Given the description of an element on the screen output the (x, y) to click on. 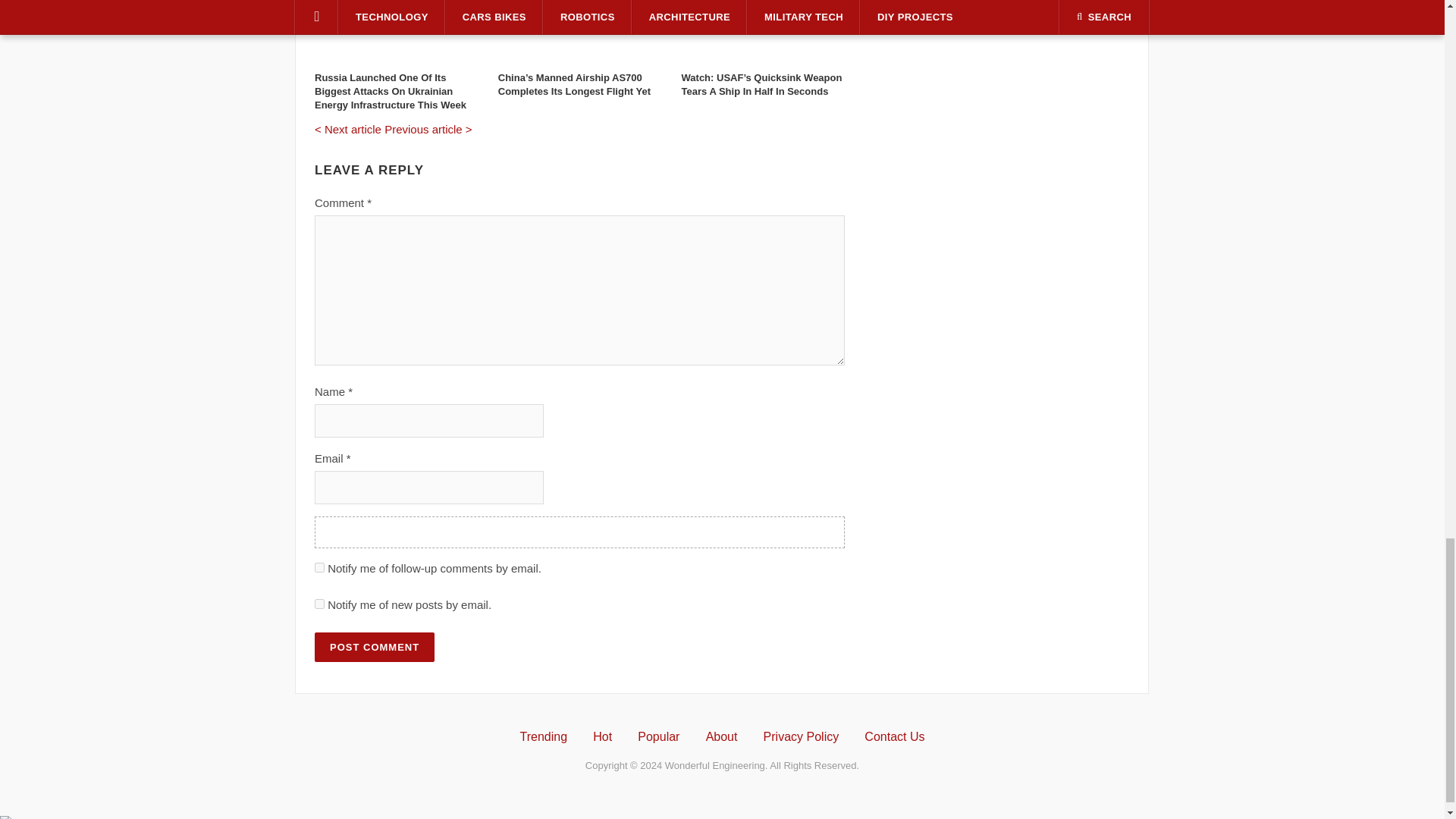
Post Comment (373, 646)
subscribe (319, 567)
subscribe (319, 603)
